Given the description of an element on the screen output the (x, y) to click on. 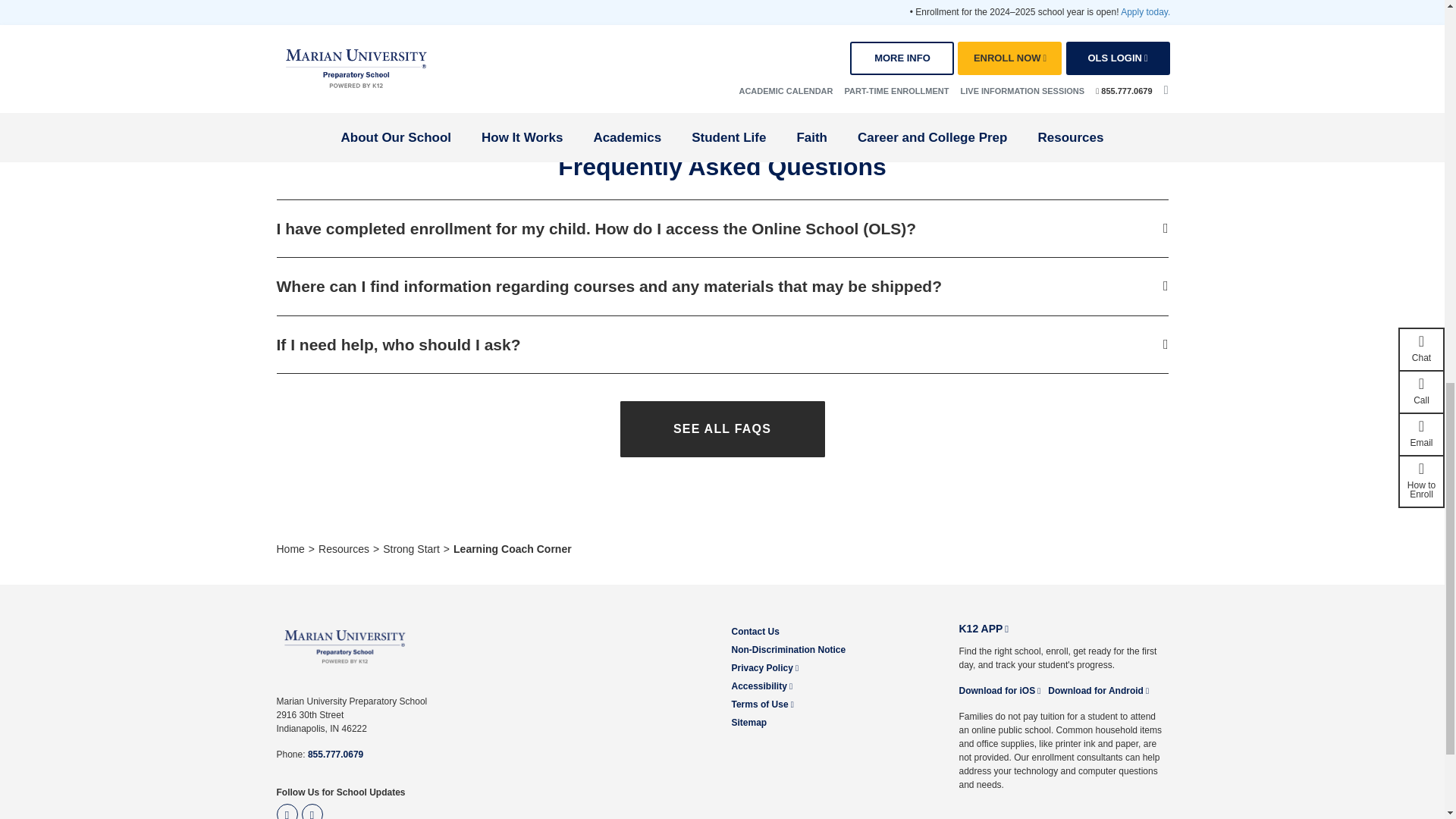
SEE ALL FAQS (722, 429)
Home (290, 548)
Resources (343, 548)
Strong Start (410, 548)
